Given the description of an element on the screen output the (x, y) to click on. 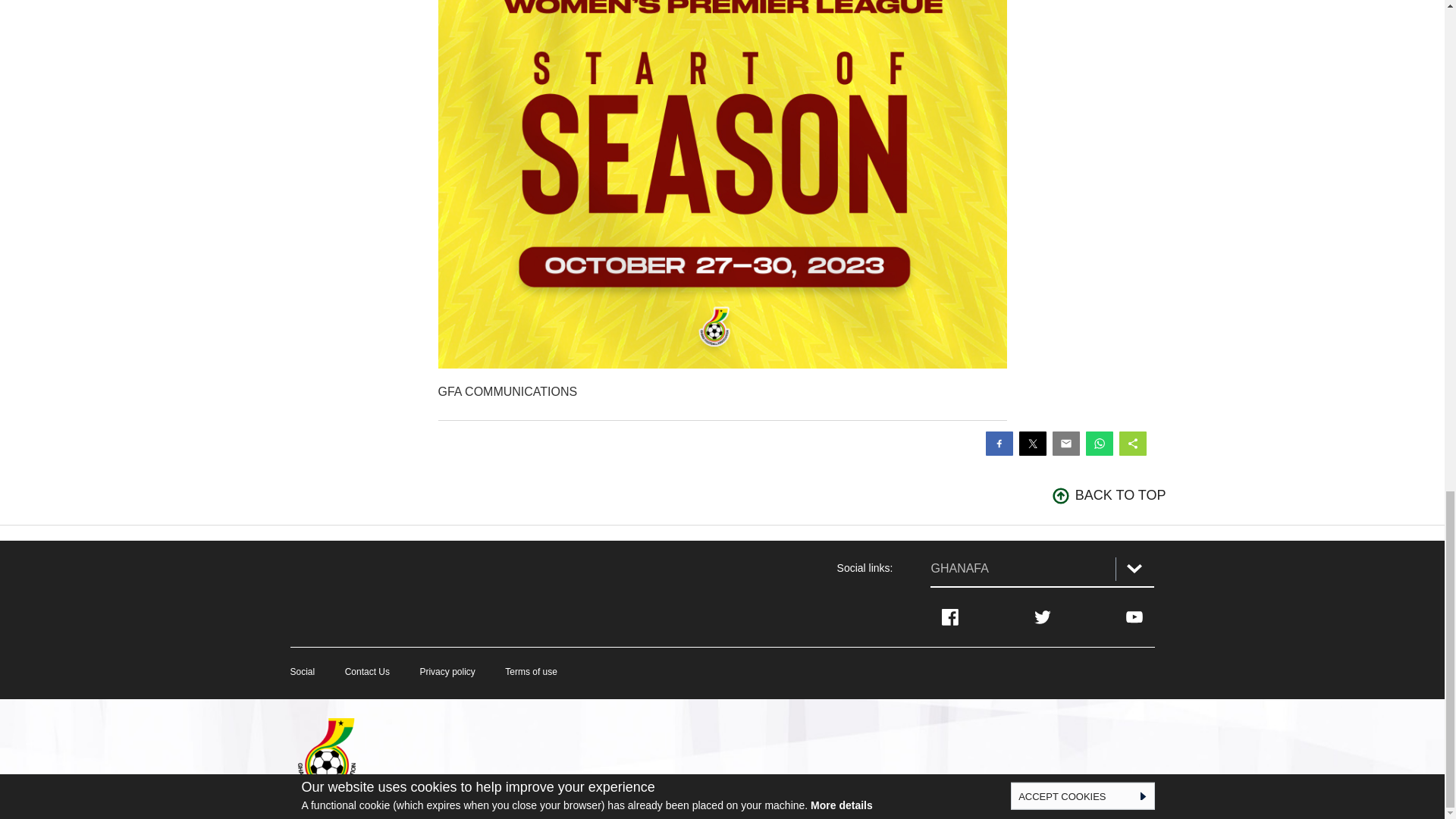
View the GhanaFA Twitter channel (1042, 617)
View the GhanaFA Facebook channel (950, 617)
View the GhanaFA YouTube channel (1133, 617)
